Given the description of an element on the screen output the (x, y) to click on. 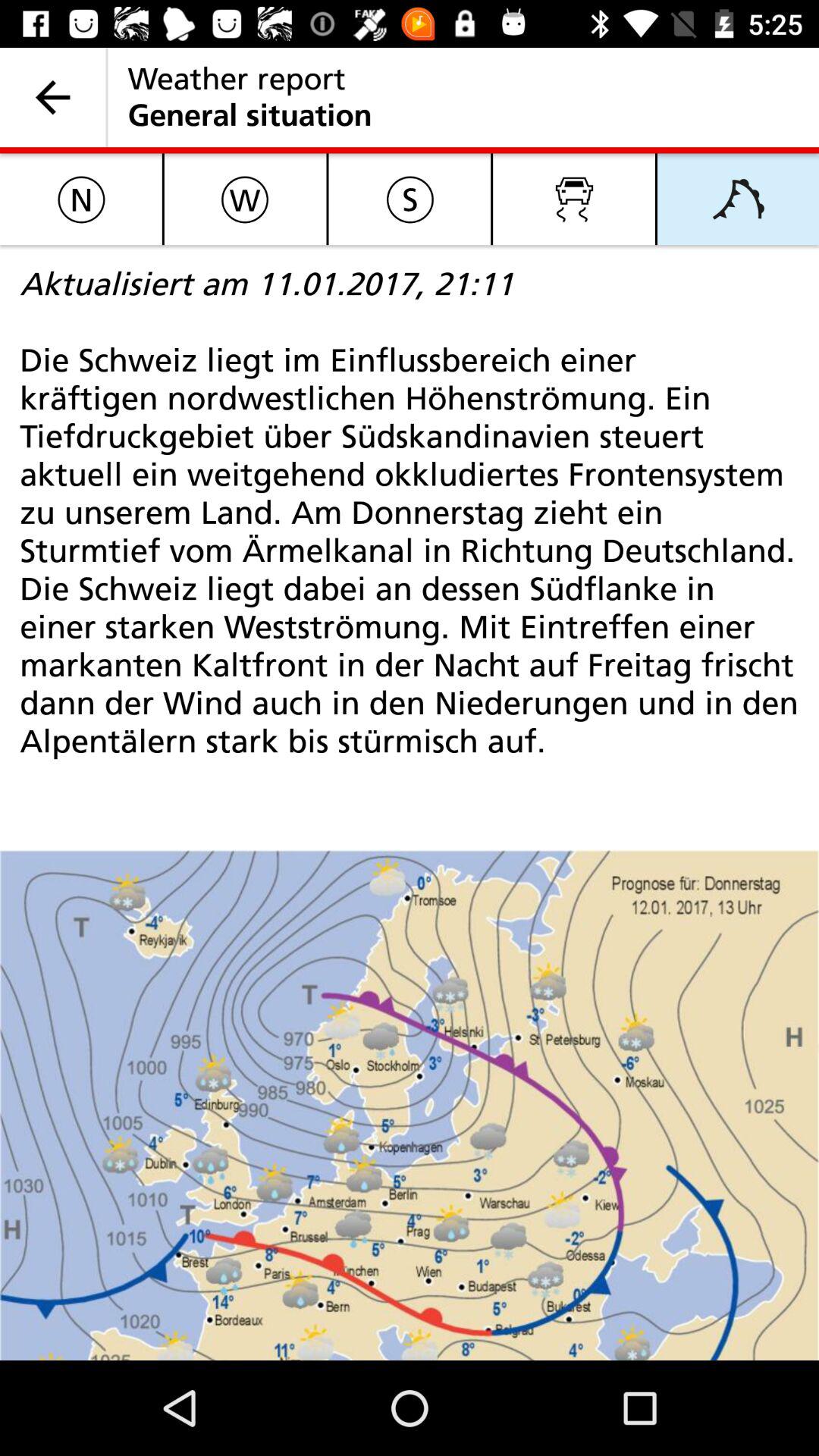
press icon next to weather report icon (52, 97)
